Given the description of an element on the screen output the (x, y) to click on. 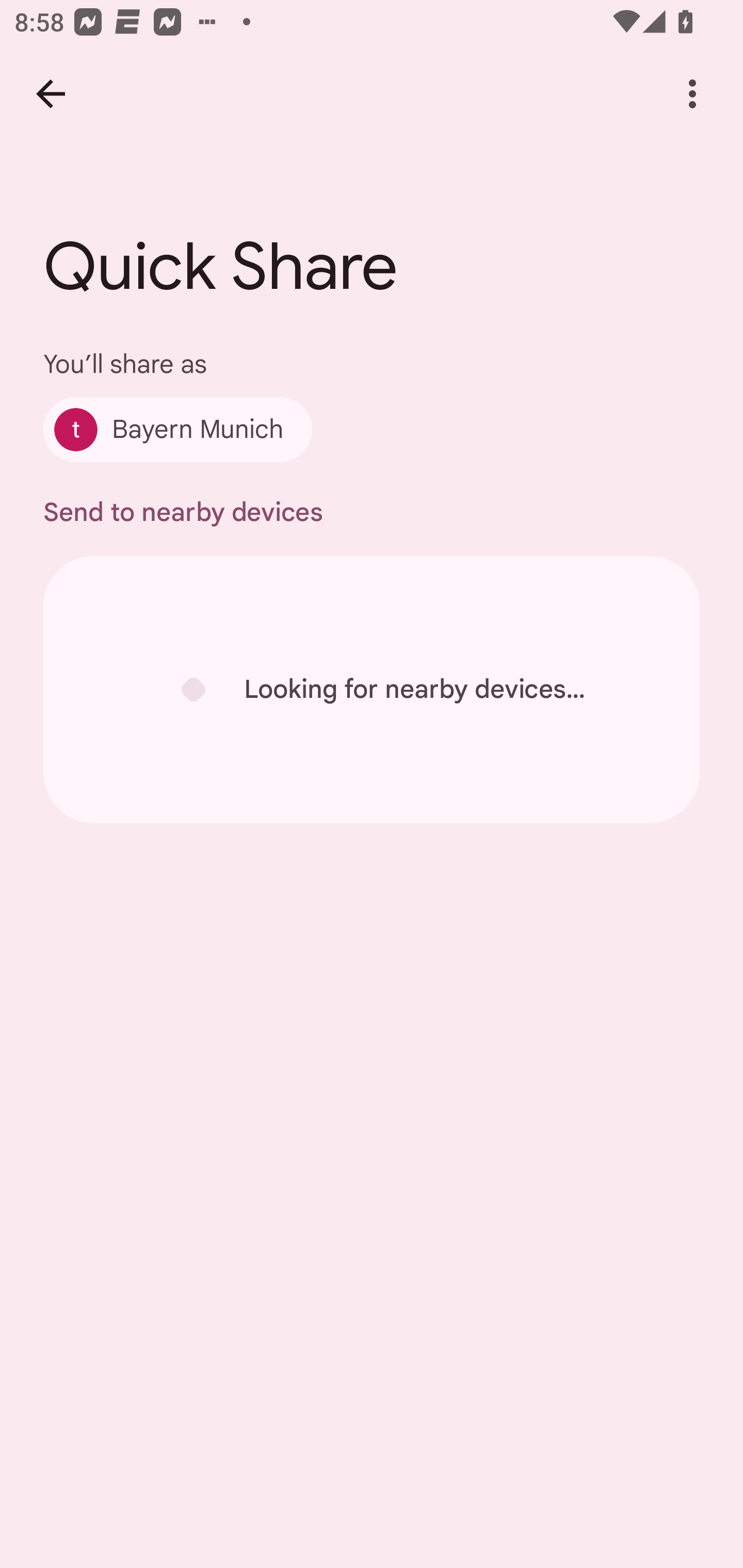
Back (50, 93)
More (692, 93)
Bayern Munich (177, 429)
